Given the description of an element on the screen output the (x, y) to click on. 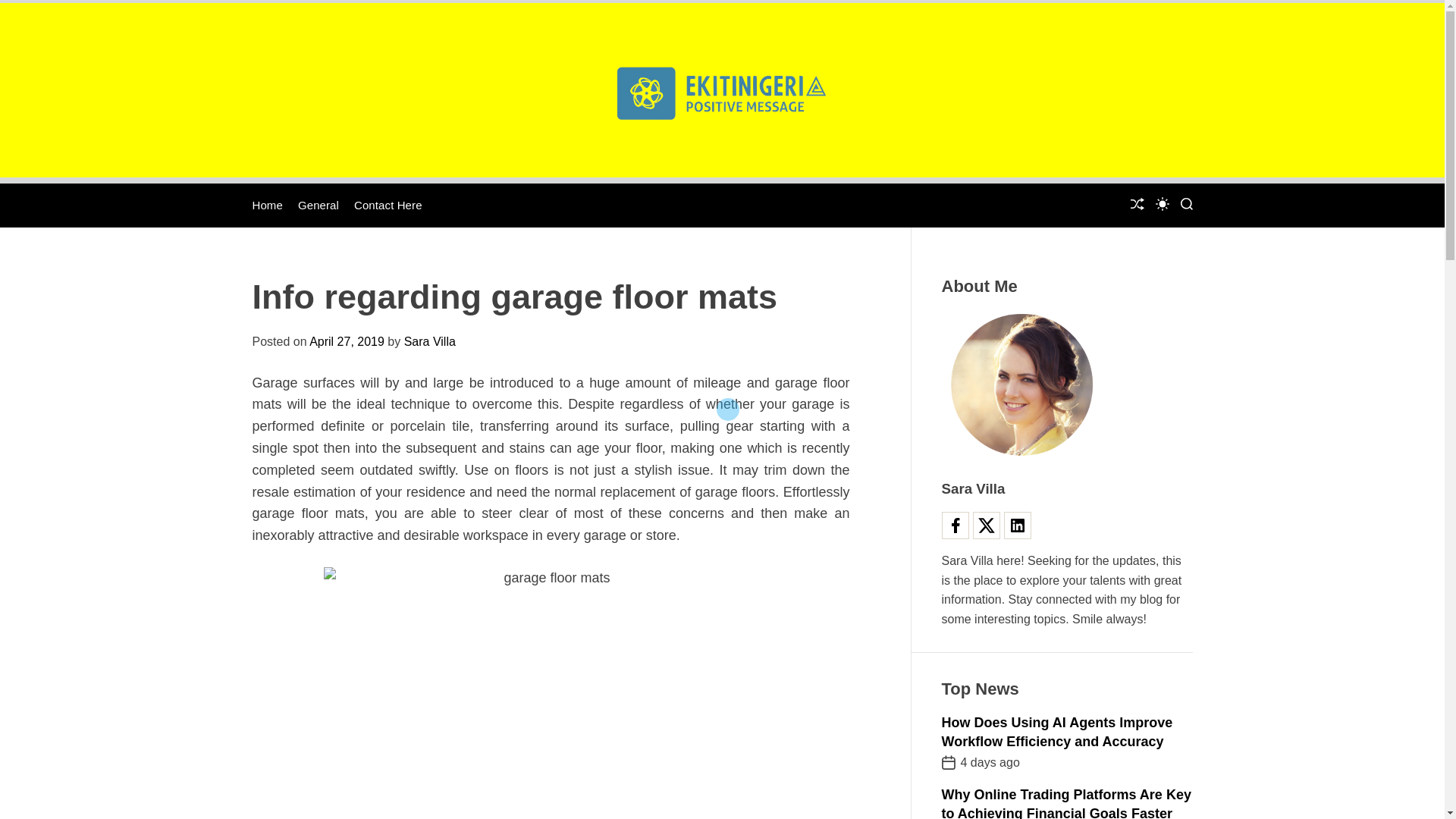
General (318, 205)
Home (266, 205)
Contact Here (387, 205)
Sara Villa (429, 341)
April 27, 2019 (346, 341)
SWITCH COLOR MODE (1162, 203)
